Given the description of an element on the screen output the (x, y) to click on. 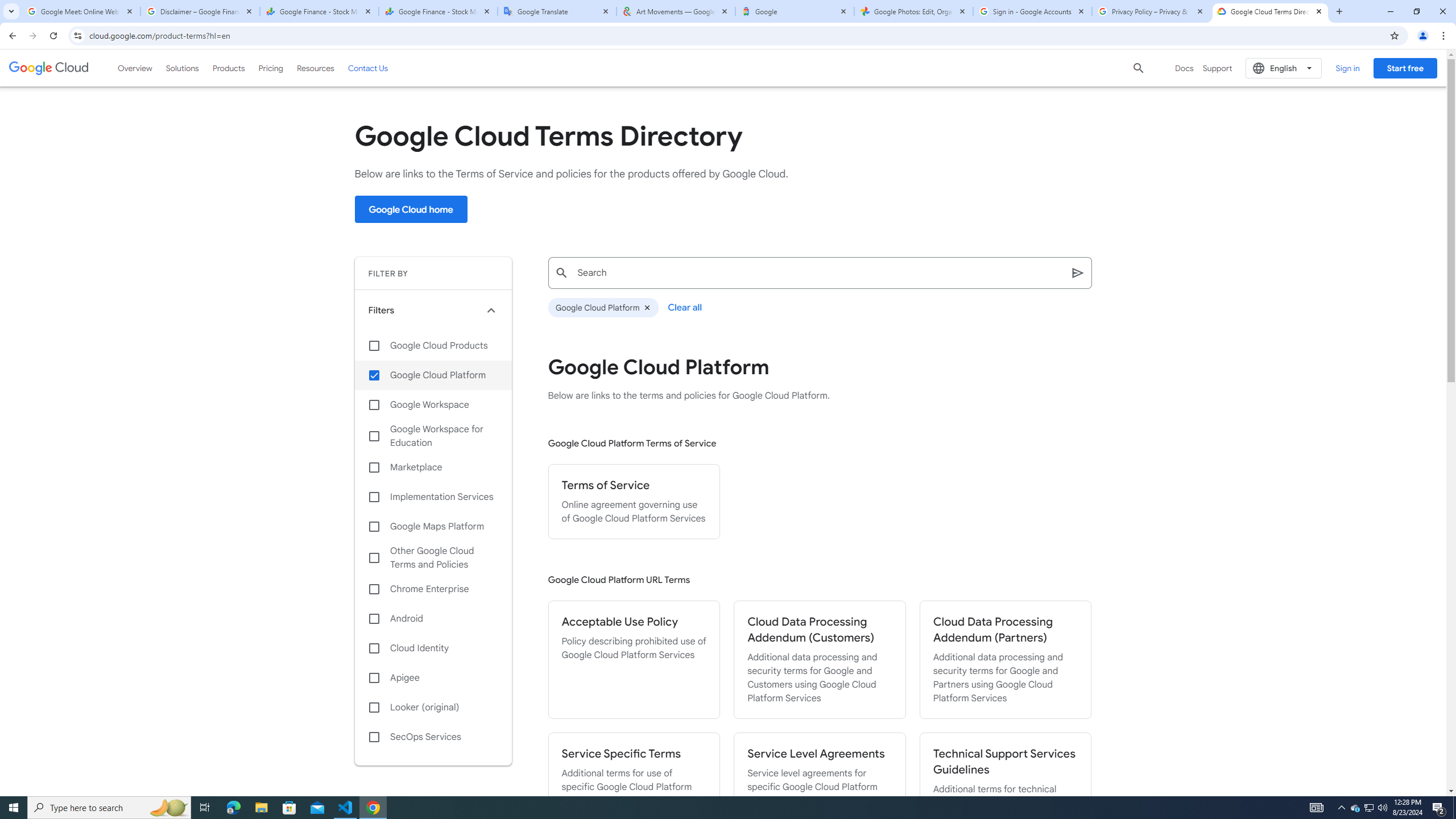
Resources (314, 67)
Chrome Enterprise (432, 589)
Android (432, 618)
Solutions (181, 67)
